Given the description of an element on the screen output the (x, y) to click on. 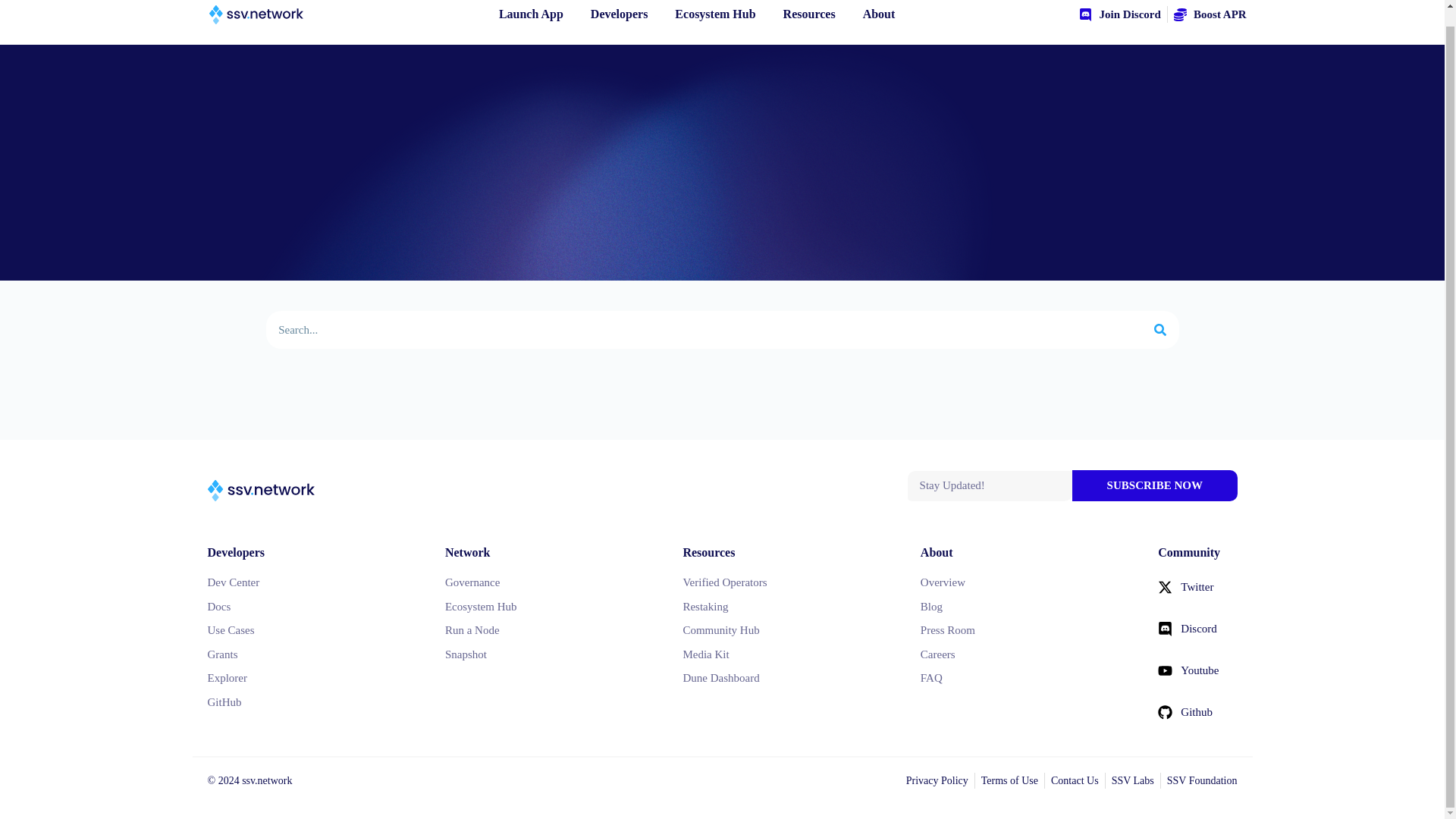
SUBSCRIBE NOW (1153, 485)
Ecosystem Hub (715, 13)
Docs (311, 606)
Join Discord (1119, 14)
Dev Center (311, 582)
Boost APR (1209, 14)
Launch App (531, 13)
